Given the description of an element on the screen output the (x, y) to click on. 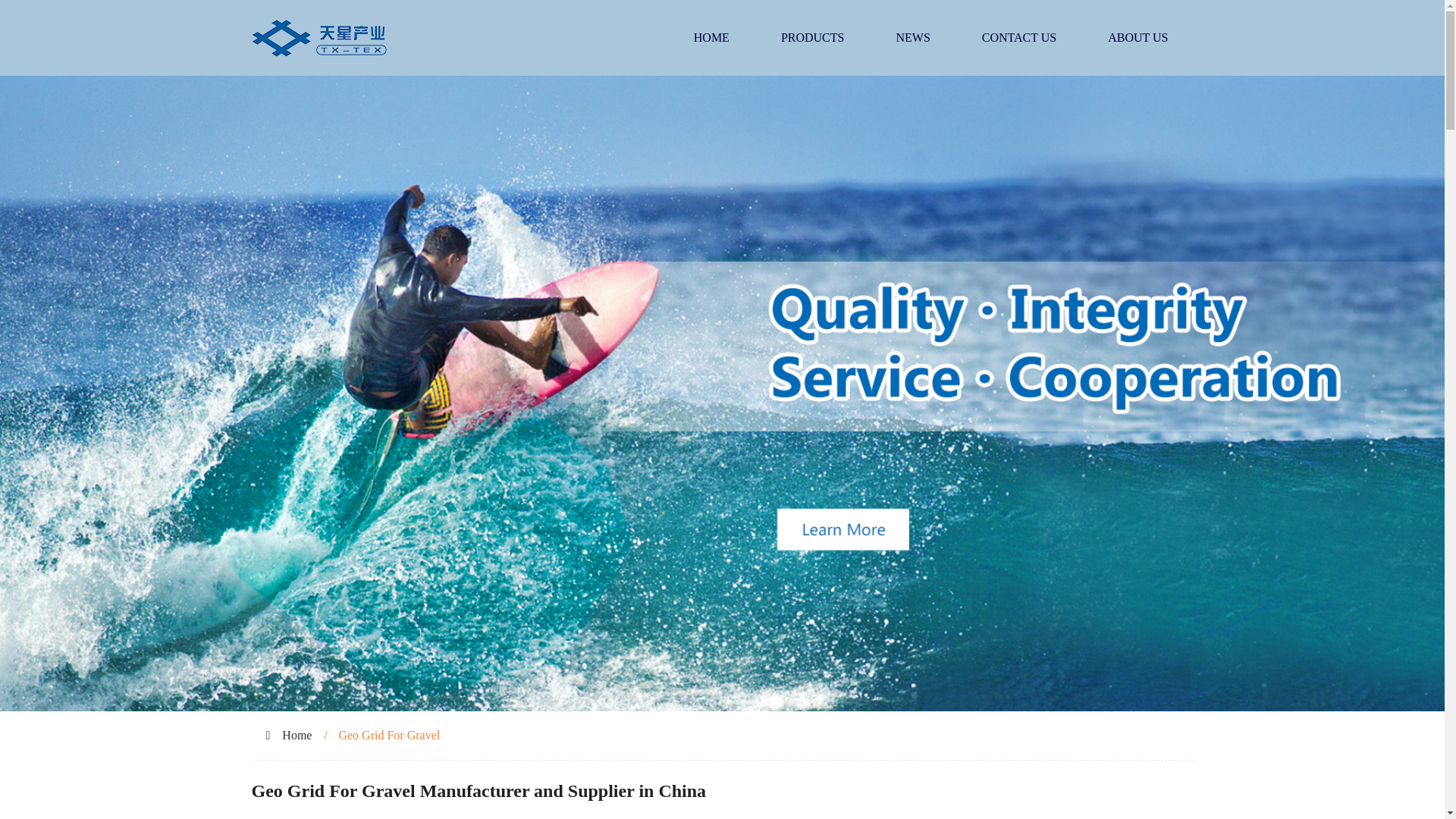
CONTACT US (1018, 38)
PRODUCTS (812, 38)
Home (296, 735)
